Given the description of an element on the screen output the (x, y) to click on. 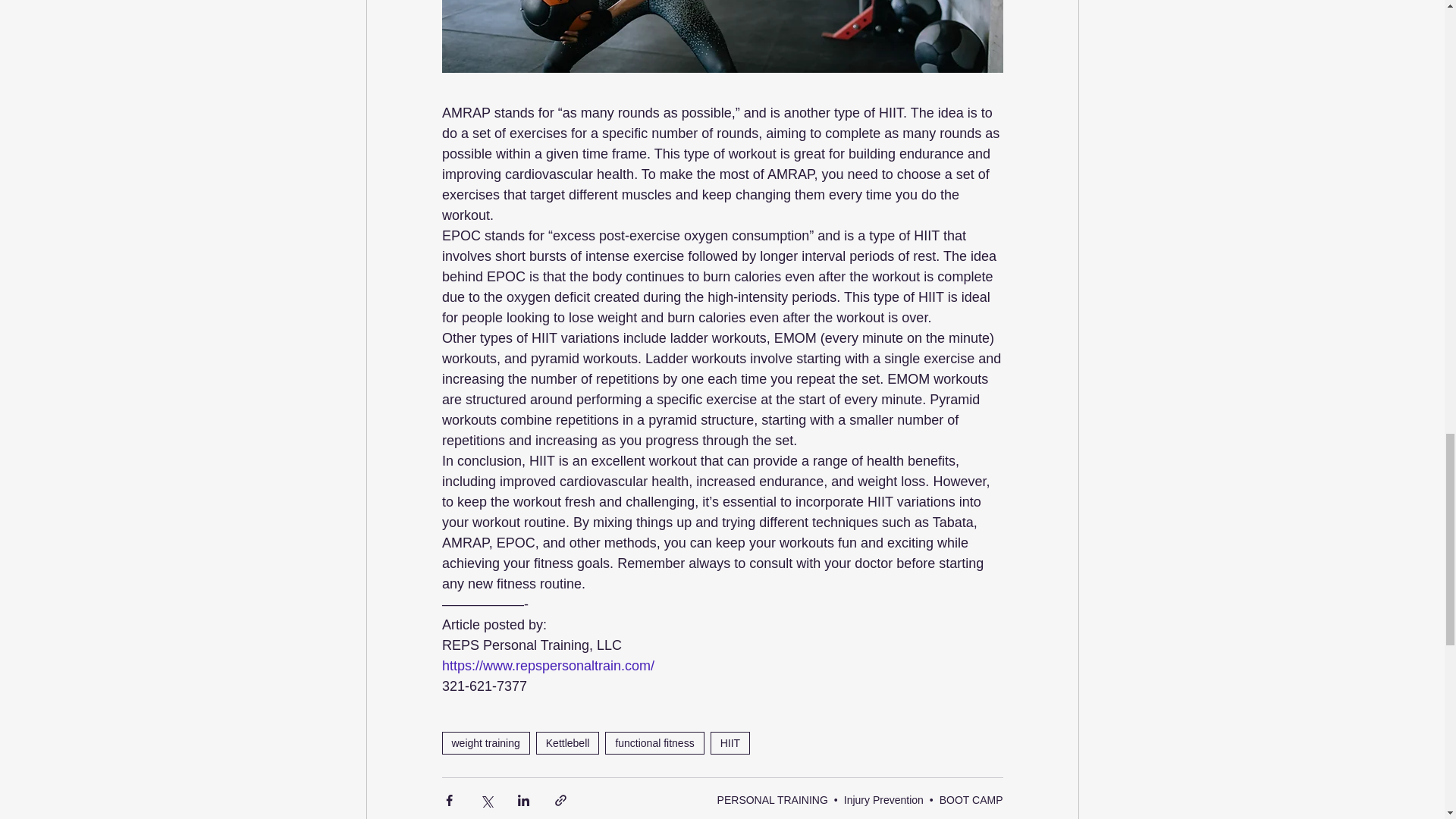
functional fitness (654, 743)
weight training (485, 743)
Kettlebell (567, 743)
HIIT (729, 743)
